Given the description of an element on the screen output the (x, y) to click on. 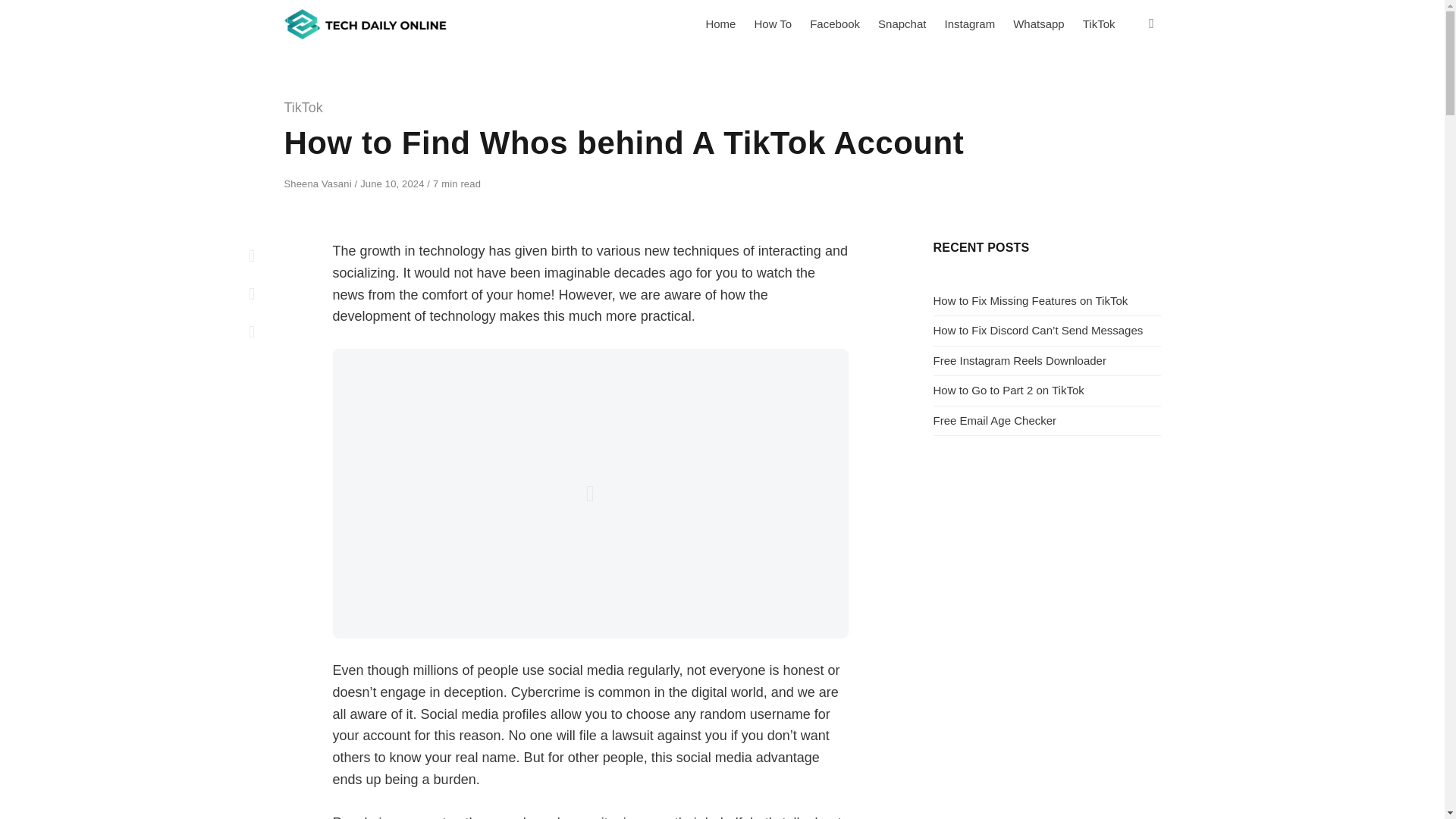
Snapchat (901, 24)
TikTok (1099, 24)
Instagram (969, 24)
How to Go to Part 2 on TikTok (1008, 390)
June 10, 2024 (392, 183)
TikTok (302, 107)
Free Instagram Reels Downloader (1019, 359)
How To (772, 24)
Whatsapp (1039, 24)
